Given the description of an element on the screen output the (x, y) to click on. 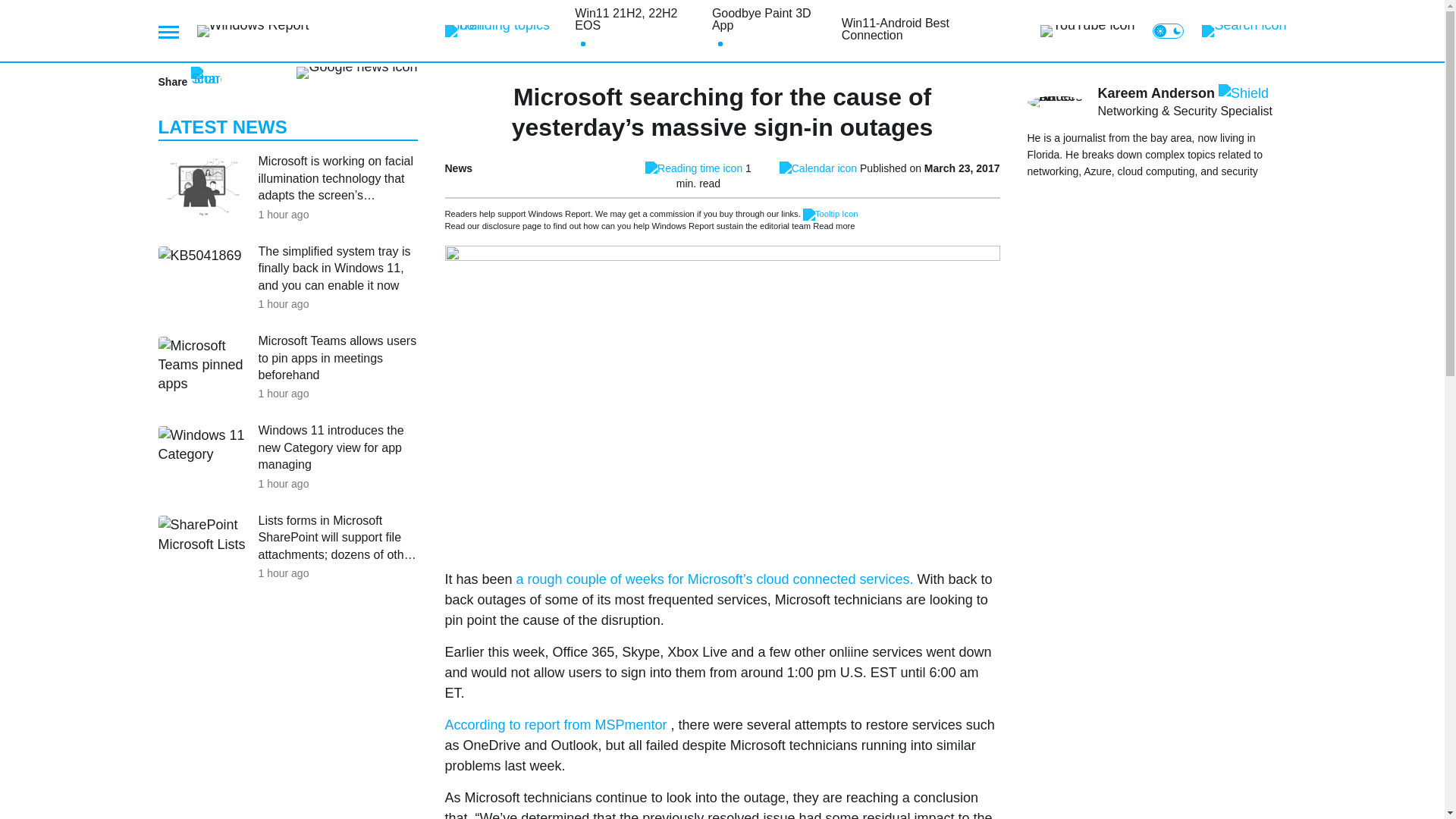
Win11 21H2, 22H2 EOS (637, 19)
Open search bar (1243, 30)
Share this article (189, 81)
News (457, 168)
